Given the description of an element on the screen output the (x, y) to click on. 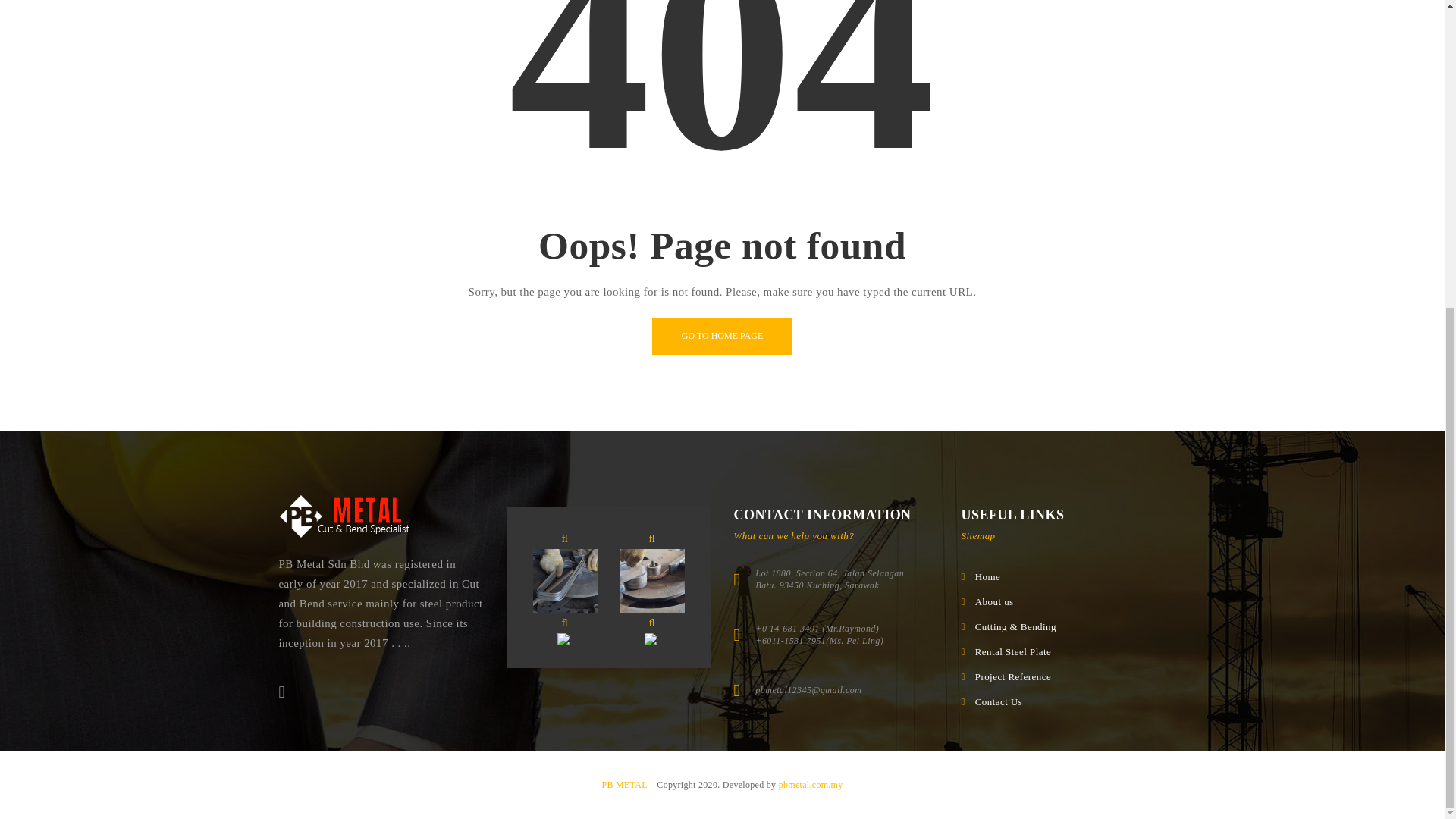
PB Metal (344, 516)
About us (994, 601)
Home (988, 576)
PB METAL (625, 784)
Project Reference (1013, 676)
GO TO HOME PAGE (722, 335)
Rental Steel Plate (1013, 651)
pbmetal.com.my (810, 784)
Contact Us (999, 701)
